Given the description of an element on the screen output the (x, y) to click on. 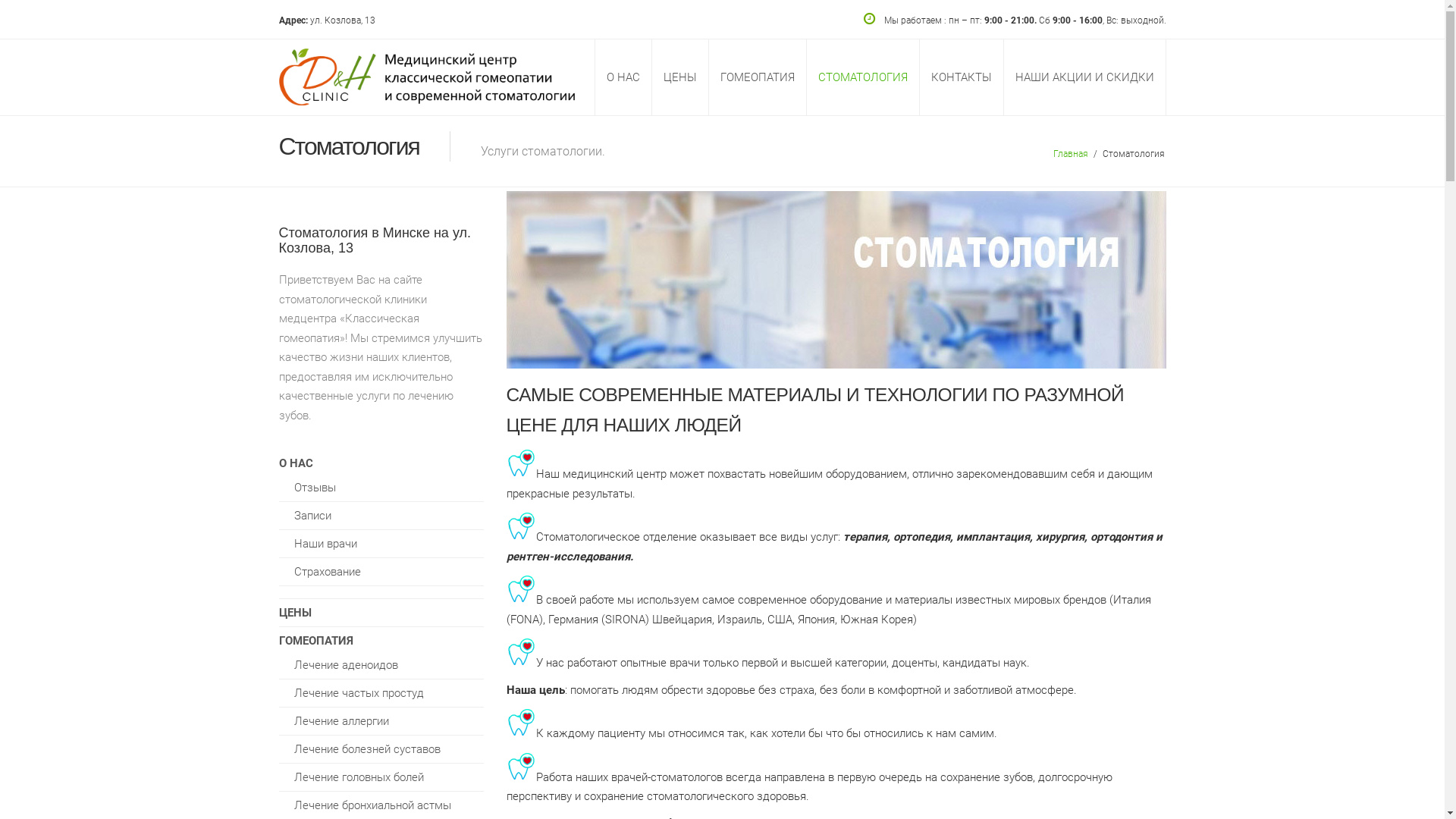
zub1.png Element type: hover (521, 462)
zub1.png Element type: hover (521, 525)
zub1.png Element type: hover (521, 722)
zub1.png Element type: hover (521, 588)
zub1.png Element type: hover (521, 765)
zub1.png Element type: hover (521, 651)
